Given the description of an element on the screen output the (x, y) to click on. 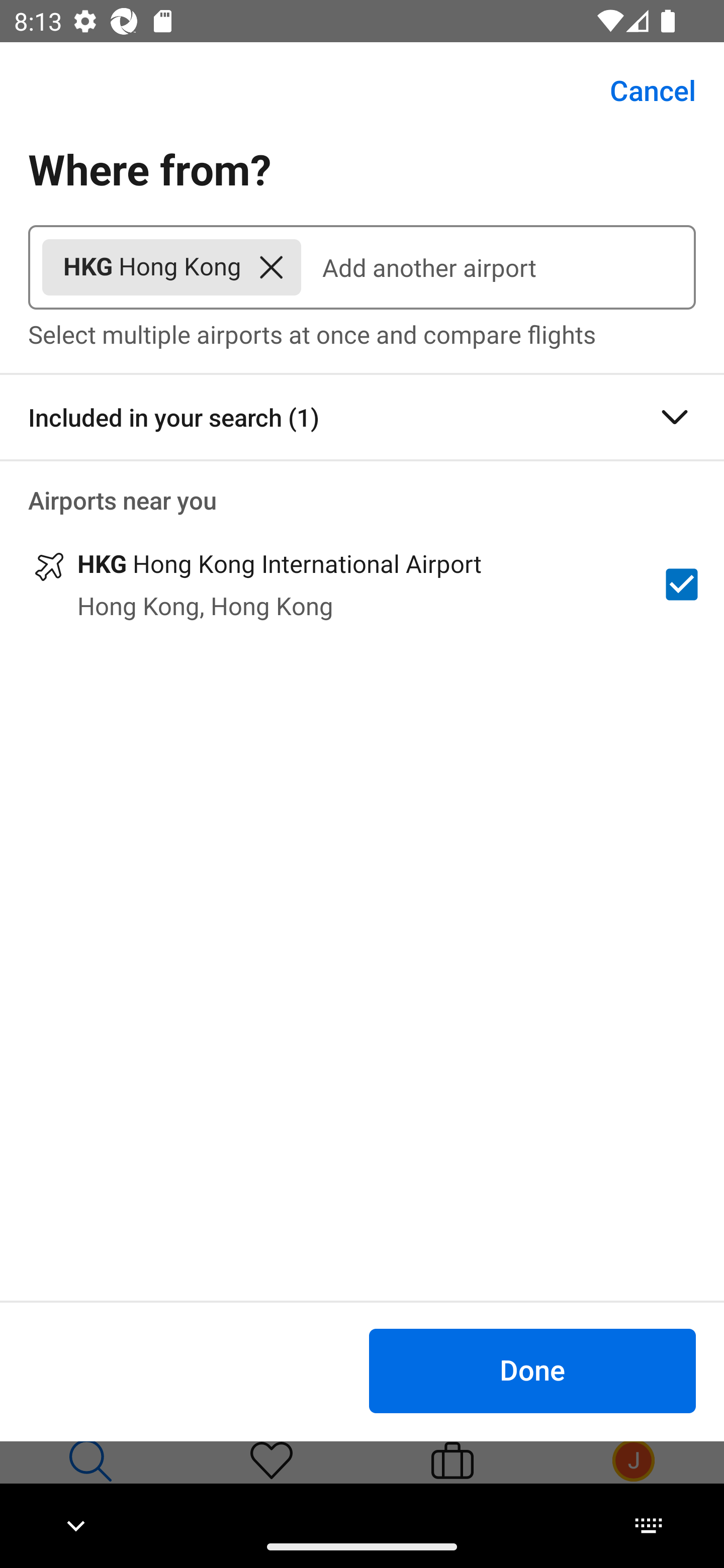
Cancel (641, 90)
Add another airport (498, 266)
HKG Hong Kong Remove HKG Hong Kong (171, 266)
Included in your search (1) (362, 416)
Done (532, 1370)
